Given the description of an element on the screen output the (x, y) to click on. 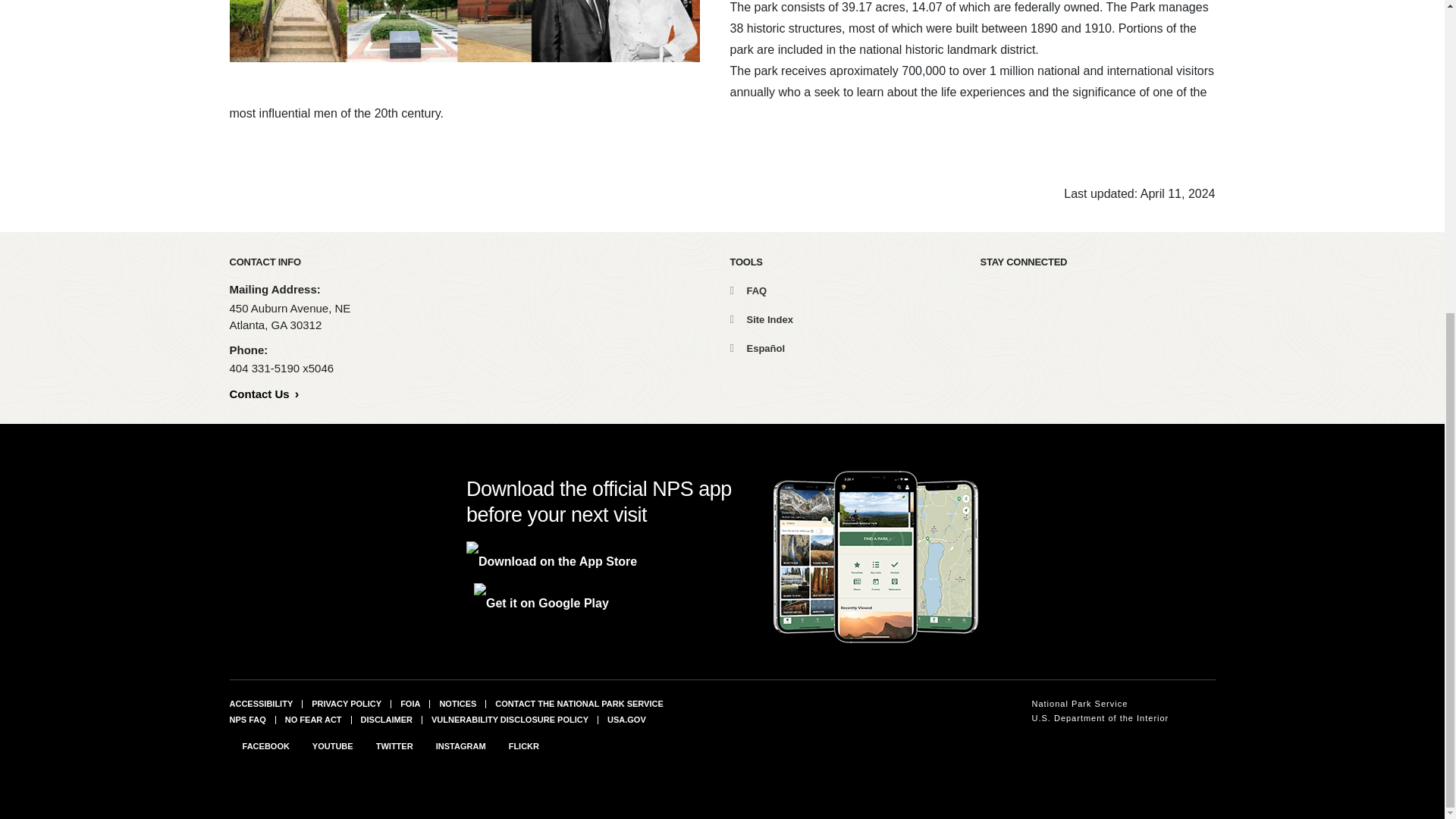
U.S. Department of the Interior (1099, 718)
Site Index (760, 319)
PRIVACY POLICY (346, 703)
National Park Service (1099, 703)
About the Park (463, 31)
National Park Service frequently asked questions (246, 718)
FAQ (748, 290)
FOIA (410, 703)
NOTICES (457, 703)
Contact Us (263, 393)
